Given the description of an element on the screen output the (x, y) to click on. 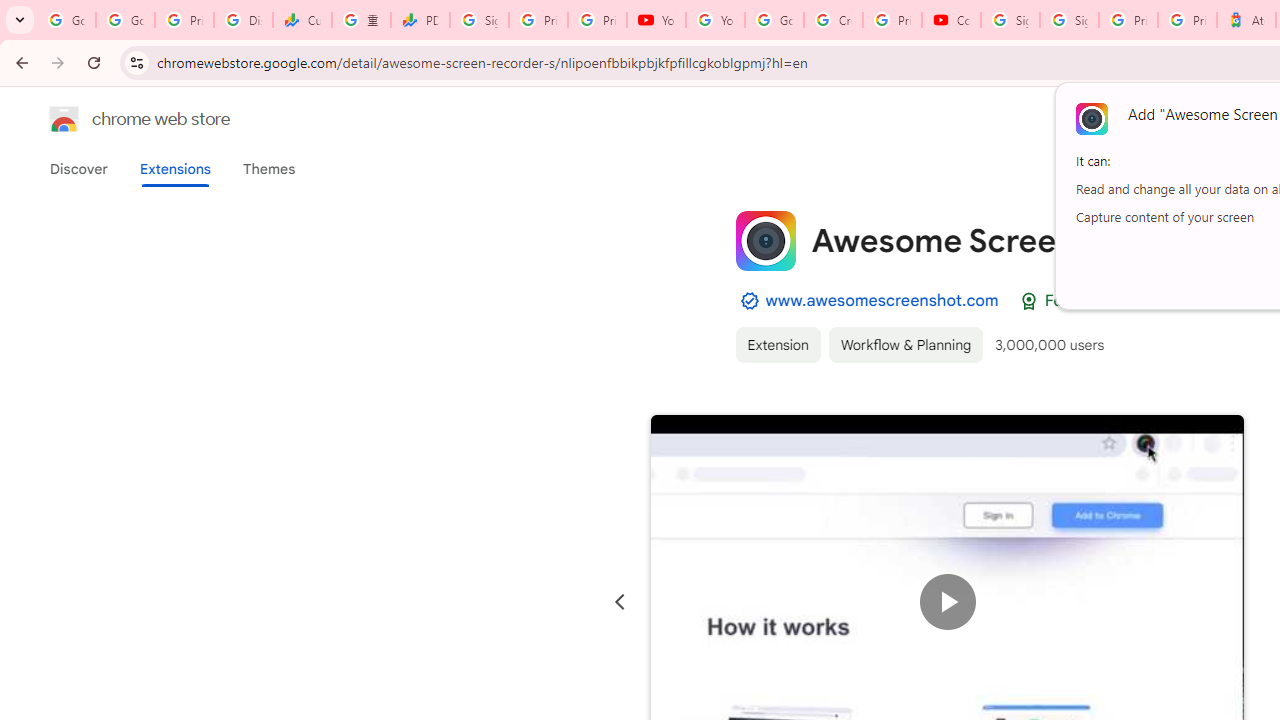
Discover (79, 169)
Privacy Checkup (597, 20)
Google Workspace Admin Community (66, 20)
www.awesomescreenshot.com (881, 300)
Chrome Web Store logo chrome web store (118, 118)
Featured Badge (1028, 301)
Create your Google Account (832, 20)
Extensions (174, 169)
